Given the description of an element on the screen output the (x, y) to click on. 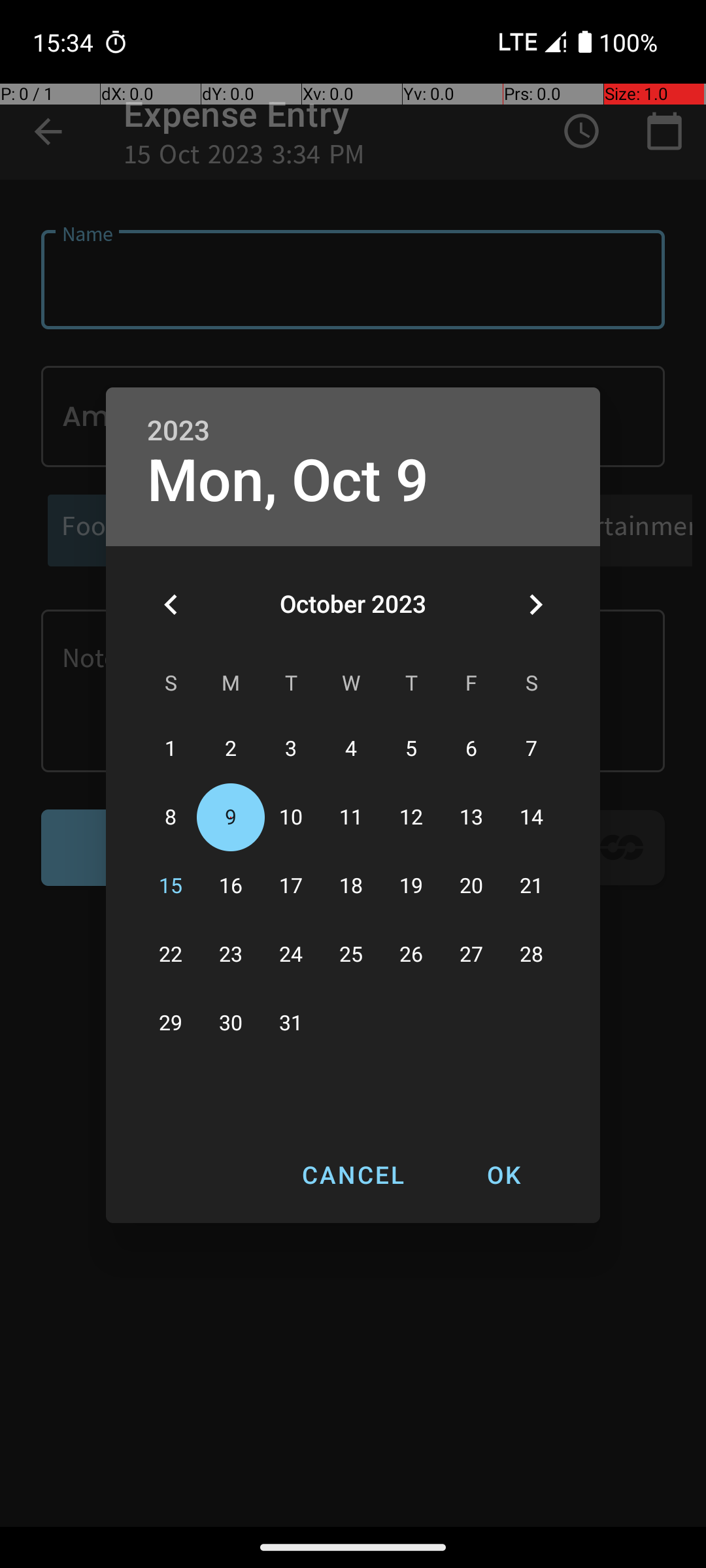
Mon, Oct 9 Element type: android.widget.TextView (287, 480)
